Given the description of an element on the screen output the (x, y) to click on. 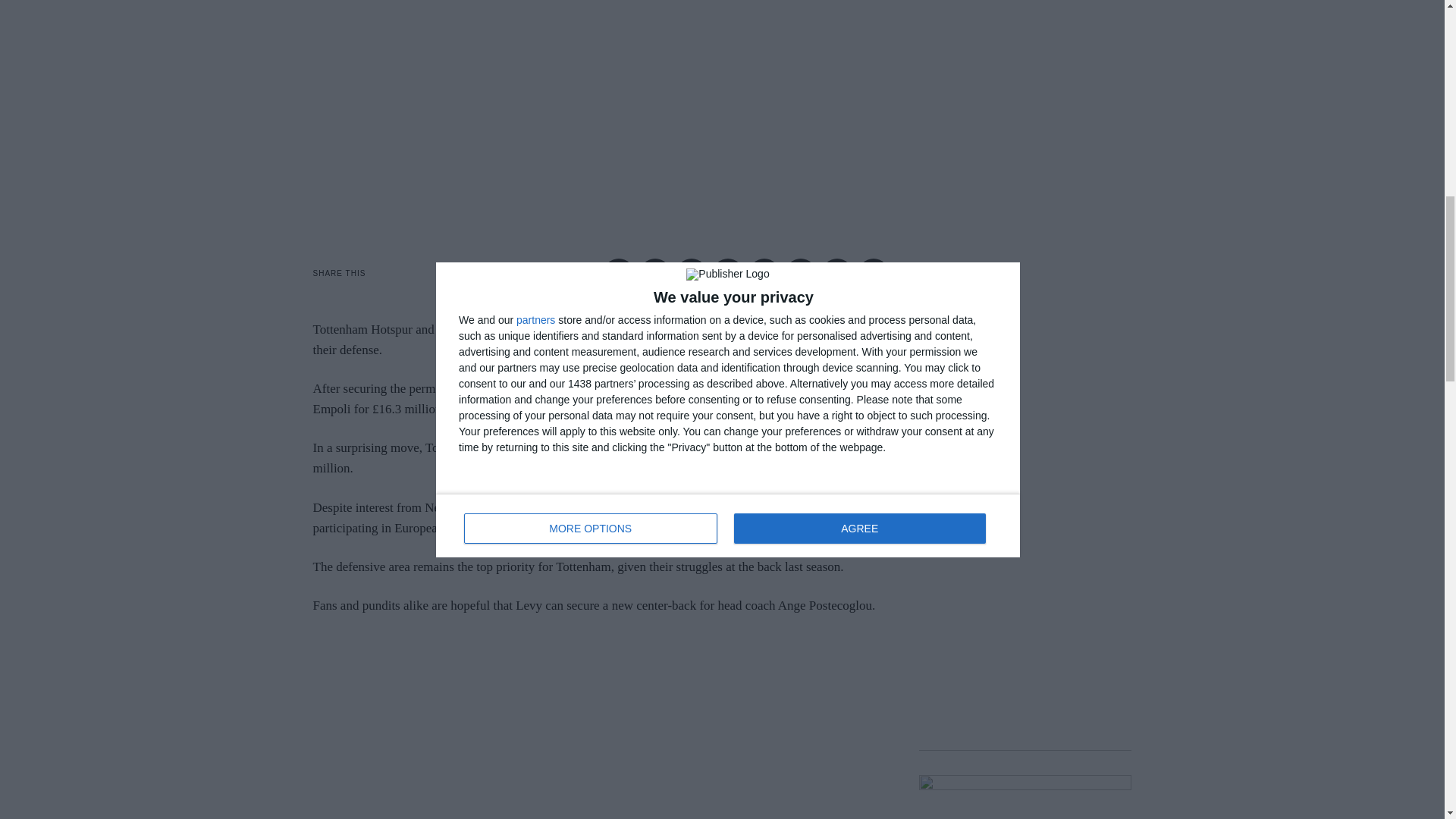
Reddit (836, 273)
Facebook (618, 273)
Twitter (691, 273)
Linkedin (763, 273)
Messenger (654, 273)
Whatsapp (800, 273)
Pinterest (727, 273)
Email (873, 273)
